Given the description of an element on the screen output the (x, y) to click on. 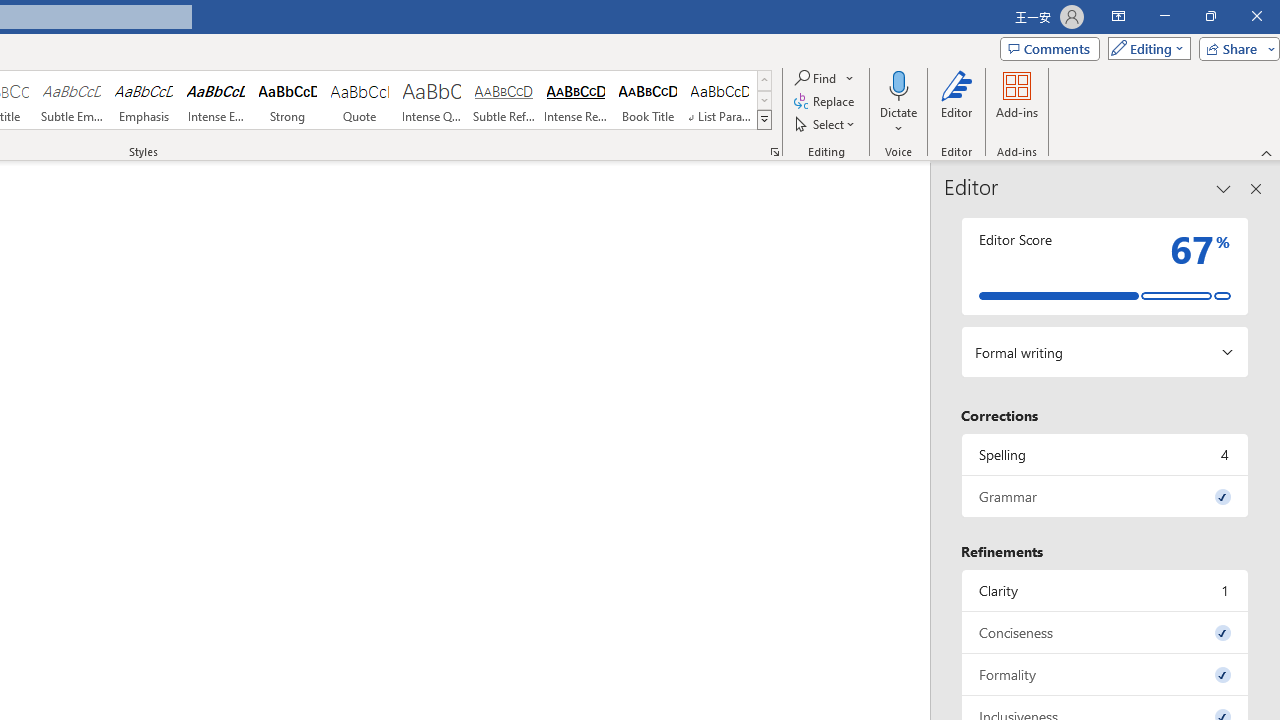
Comments (1049, 48)
Intense Quote (431, 100)
Emphasis (143, 100)
Select (826, 124)
Find (817, 78)
Row up (763, 79)
Strong (287, 100)
Grammar, 0 issues. Press space or enter to review items. (1105, 495)
Intense Reference (575, 100)
Row Down (763, 100)
Dictate (899, 102)
Minimize (1164, 16)
Subtle Reference (504, 100)
Restore Down (1210, 16)
Styles (763, 120)
